Given the description of an element on the screen output the (x, y) to click on. 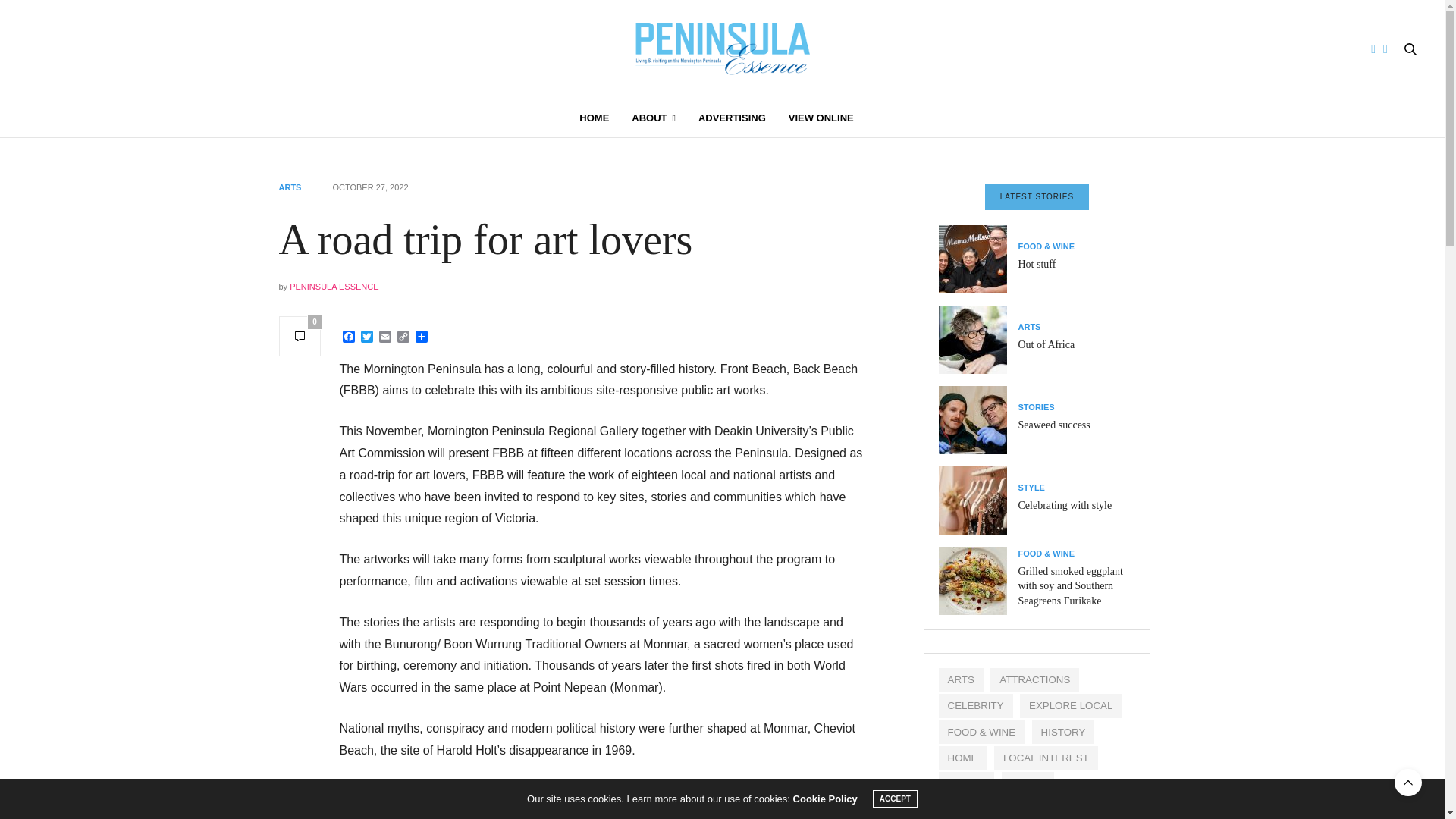
Facebook (348, 337)
ADVERTISING (731, 118)
ARTS (290, 187)
peninsula essence (721, 49)
Twitter (366, 337)
PENINSULA ESSENCE (333, 286)
ABOUT (653, 118)
Copy Link (403, 337)
Facebook (348, 337)
Email (384, 337)
